Given the description of an element on the screen output the (x, y) to click on. 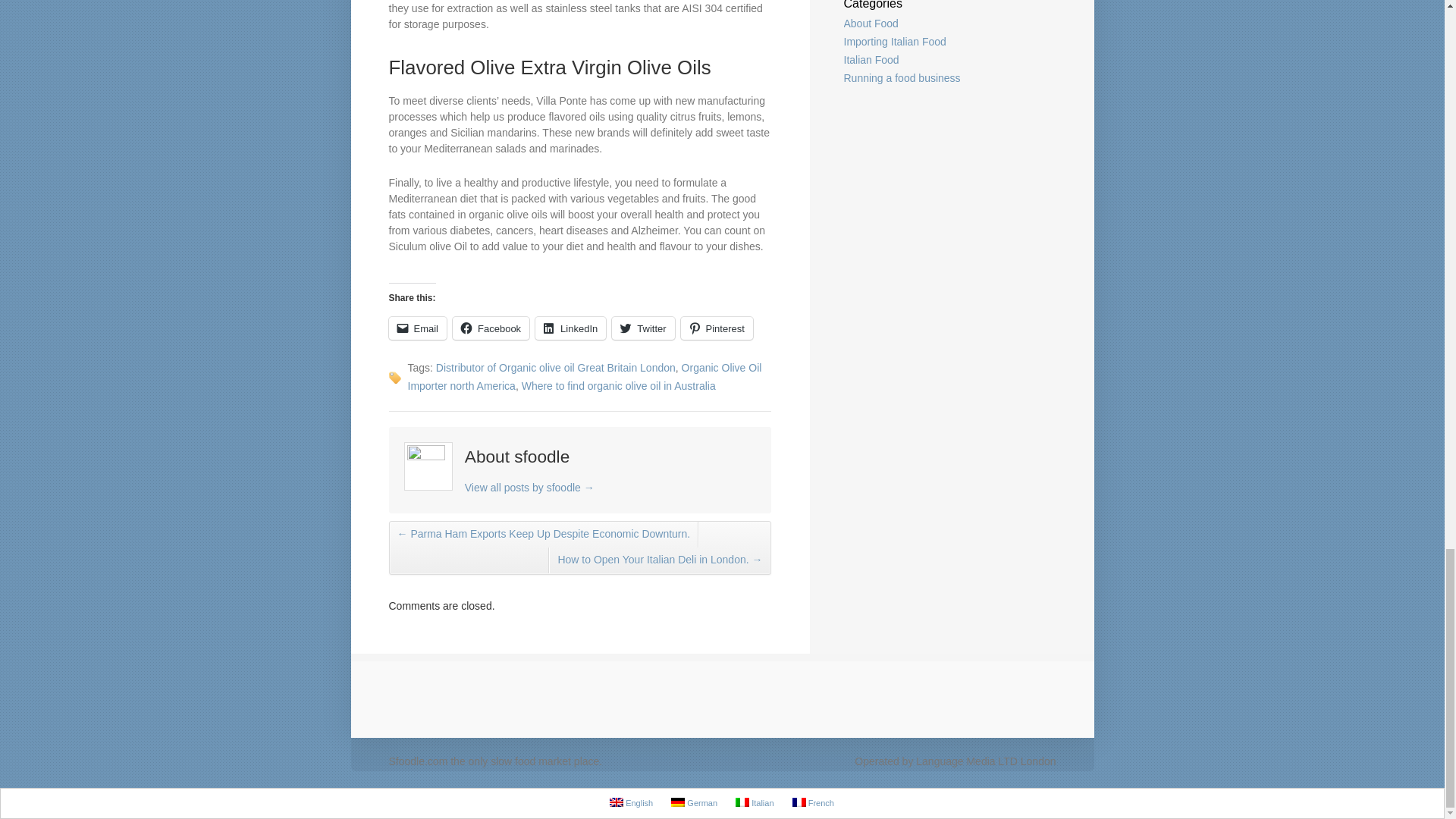
Pinterest (716, 327)
Where to find organic olive oil in Australia (618, 386)
Twitter (642, 327)
Click to share on Twitter (642, 327)
Facebook (490, 327)
Email (417, 327)
Click to share on LinkedIn (570, 327)
Organic Olive Oil Importer north America (584, 376)
Click to email a link to a friend (417, 327)
Click to share on Pinterest (716, 327)
